Given the description of an element on the screen output the (x, y) to click on. 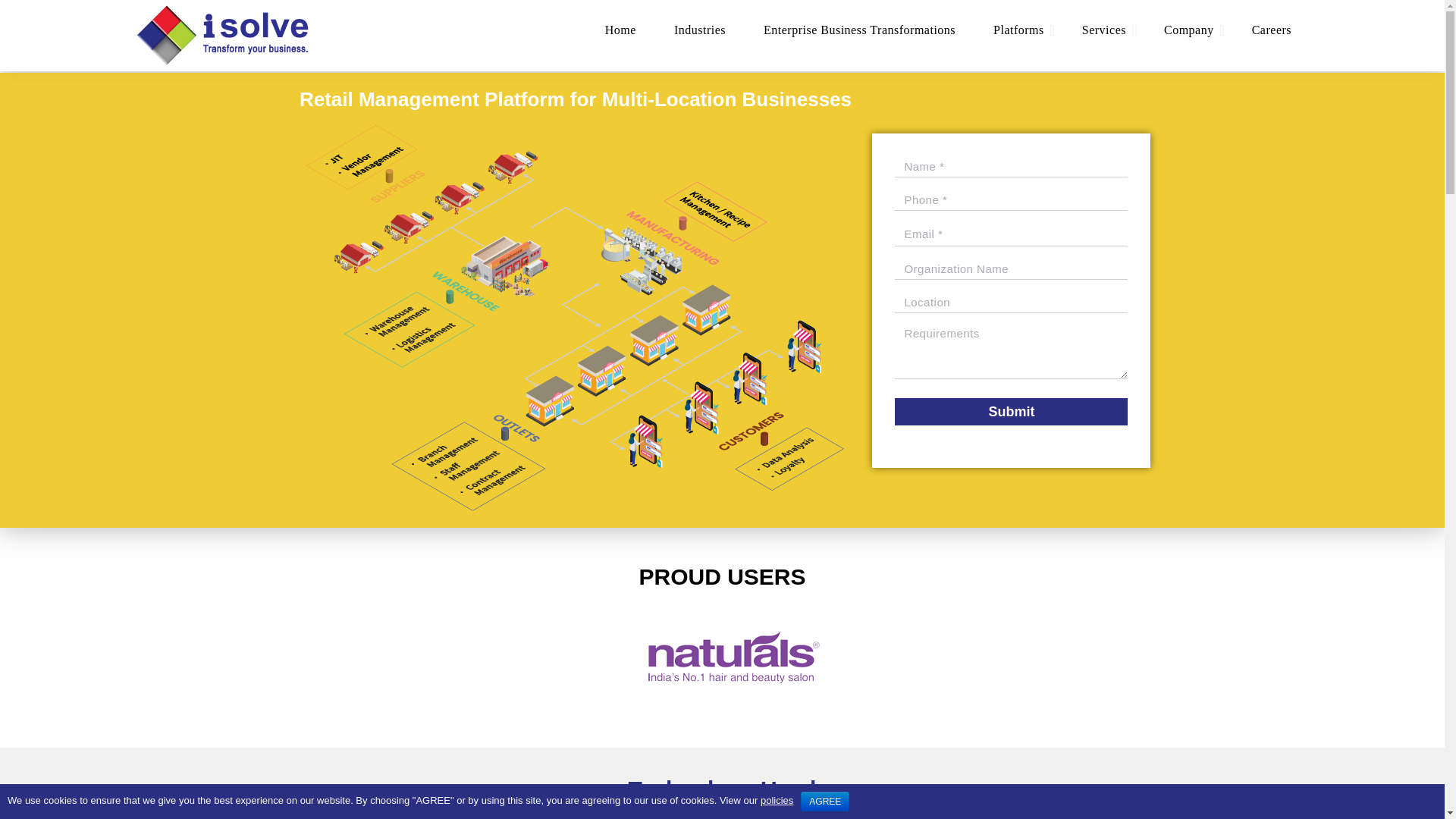
Enterprise Business Transformations (859, 30)
Services (1103, 30)
Industries (699, 30)
Company (1188, 30)
Industries (699, 30)
Platforms (1018, 30)
Careers (1271, 30)
Services (1103, 30)
Platforms (1018, 30)
Home (620, 30)
Submit (1010, 411)
Submit (1010, 411)
Technology Used (722, 788)
Home (620, 30)
Enterprise Business Transformations (859, 30)
